Given the description of an element on the screen output the (x, y) to click on. 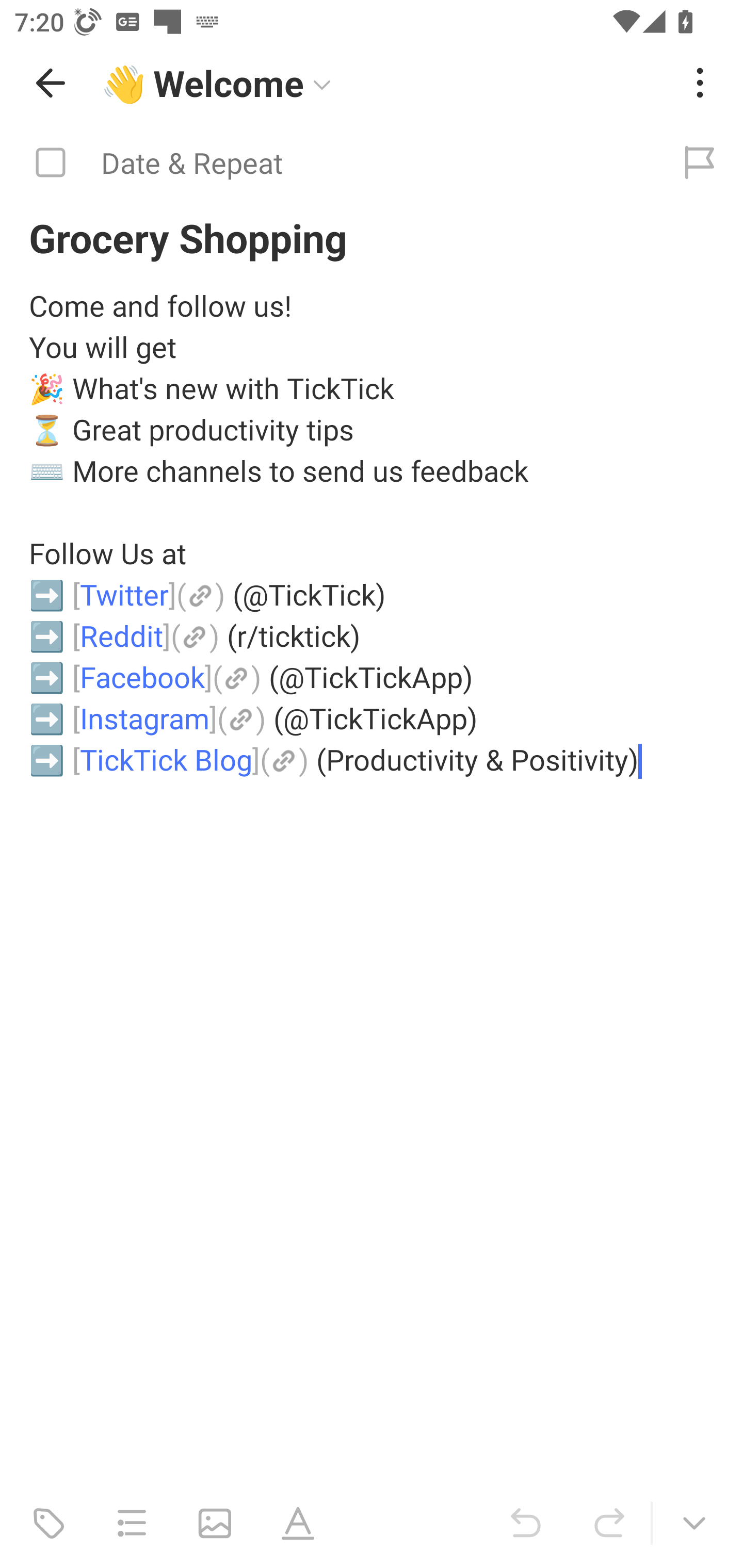
👋 Welcome (384, 82)
Date & Repeat (328, 163)
Grocery Shopping (371, 237)
